Given the description of an element on the screen output the (x, y) to click on. 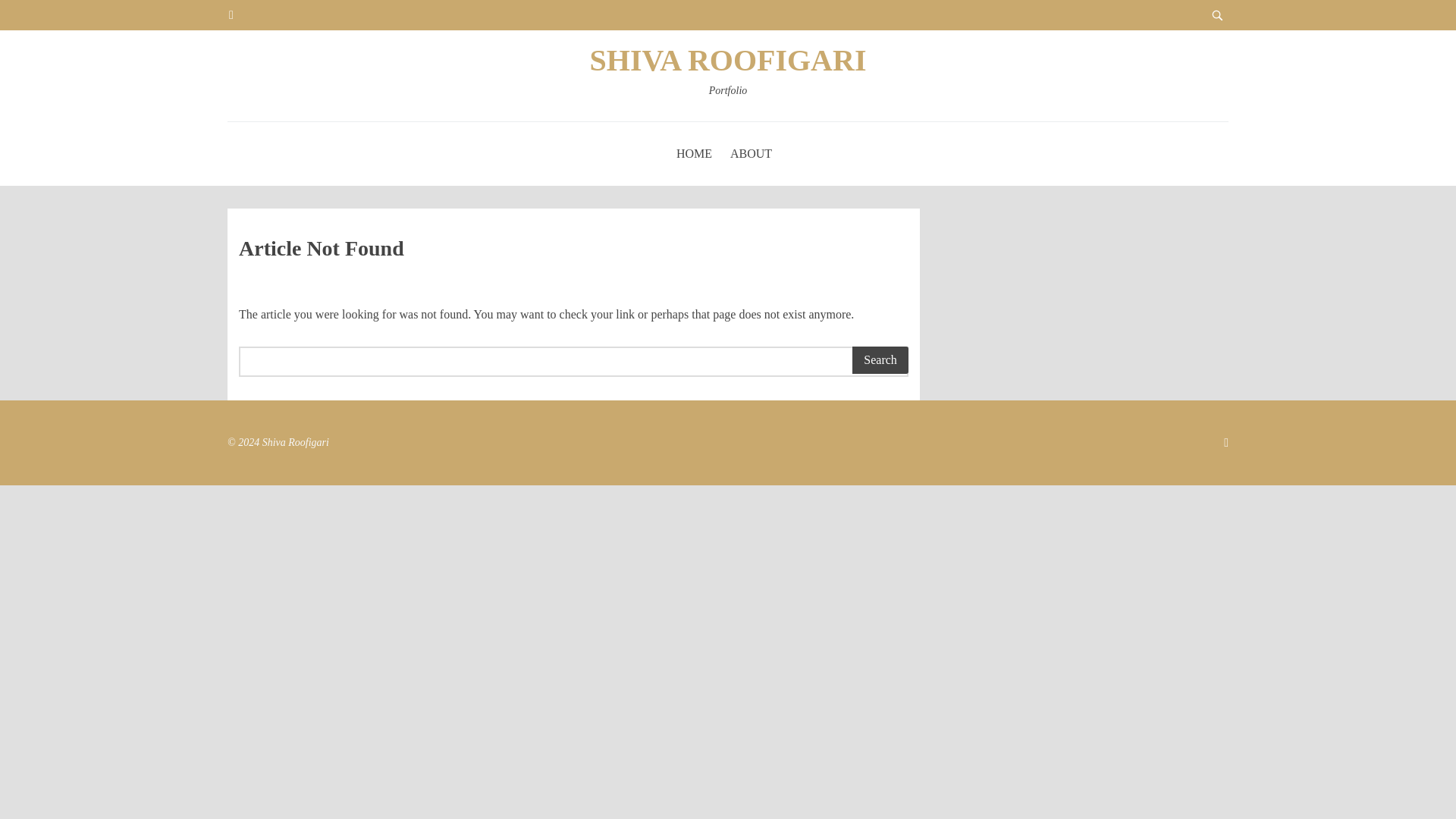
ABOUT (750, 153)
HOME (727, 75)
Search (694, 153)
Search (879, 359)
